Given the description of an element on the screen output the (x, y) to click on. 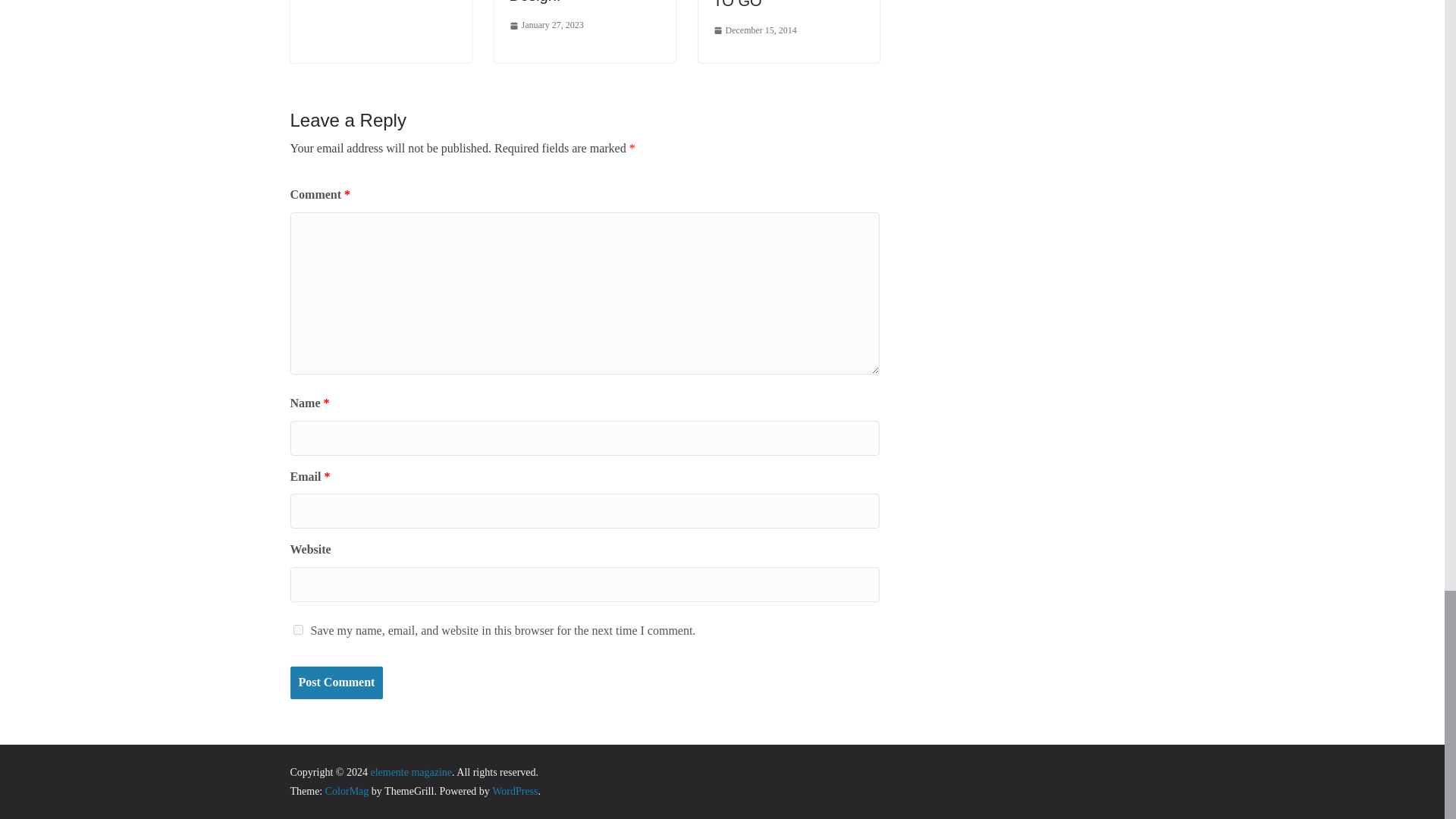
Post Comment (335, 682)
January 27, 2023 (546, 25)
8:47 am (546, 25)
yes (297, 629)
